Given the description of an element on the screen output the (x, y) to click on. 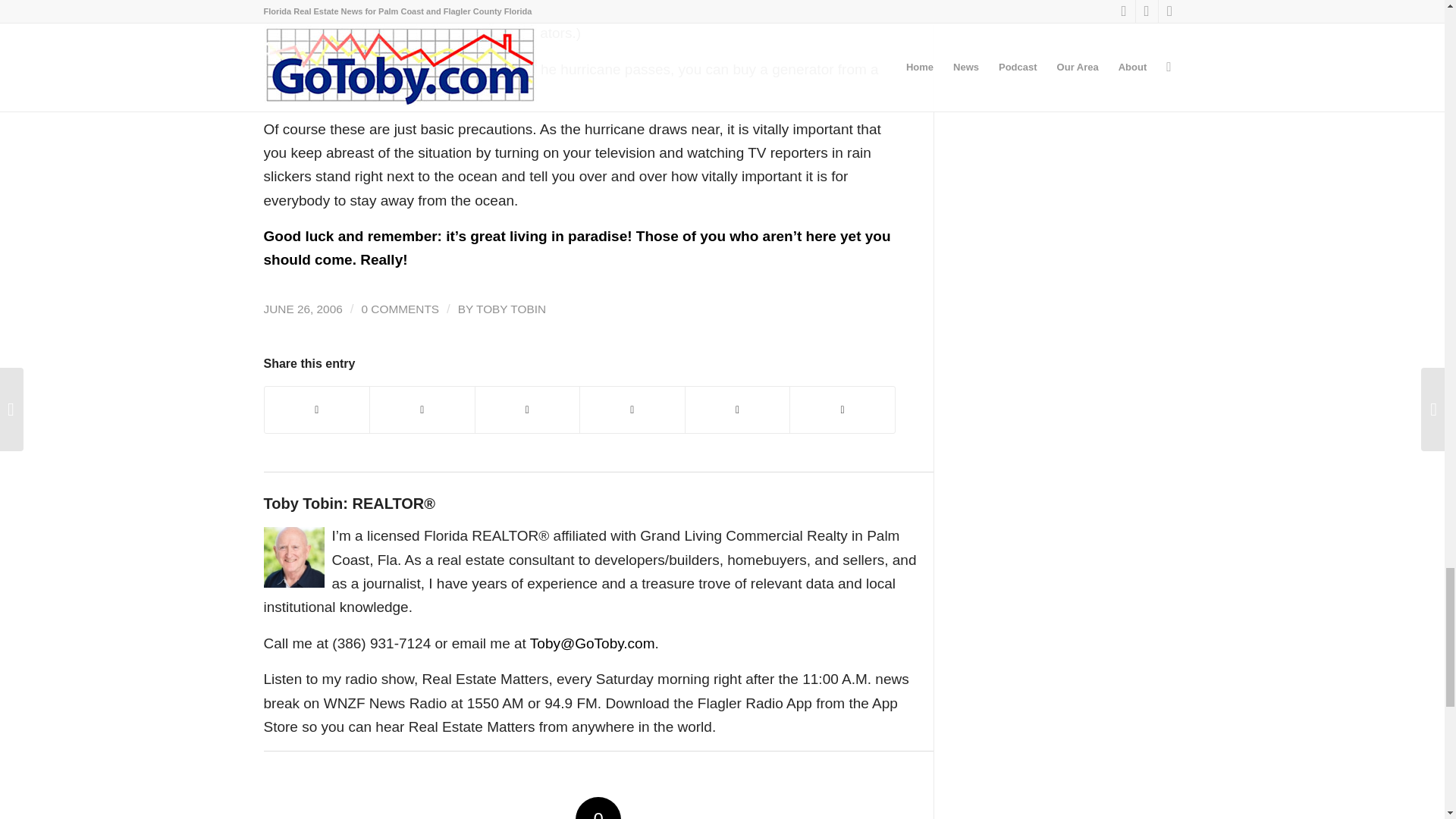
TOBY TOBIN (511, 308)
Posts by Toby Tobin (511, 308)
0 COMMENTS (400, 308)
